Given the description of an element on the screen output the (x, y) to click on. 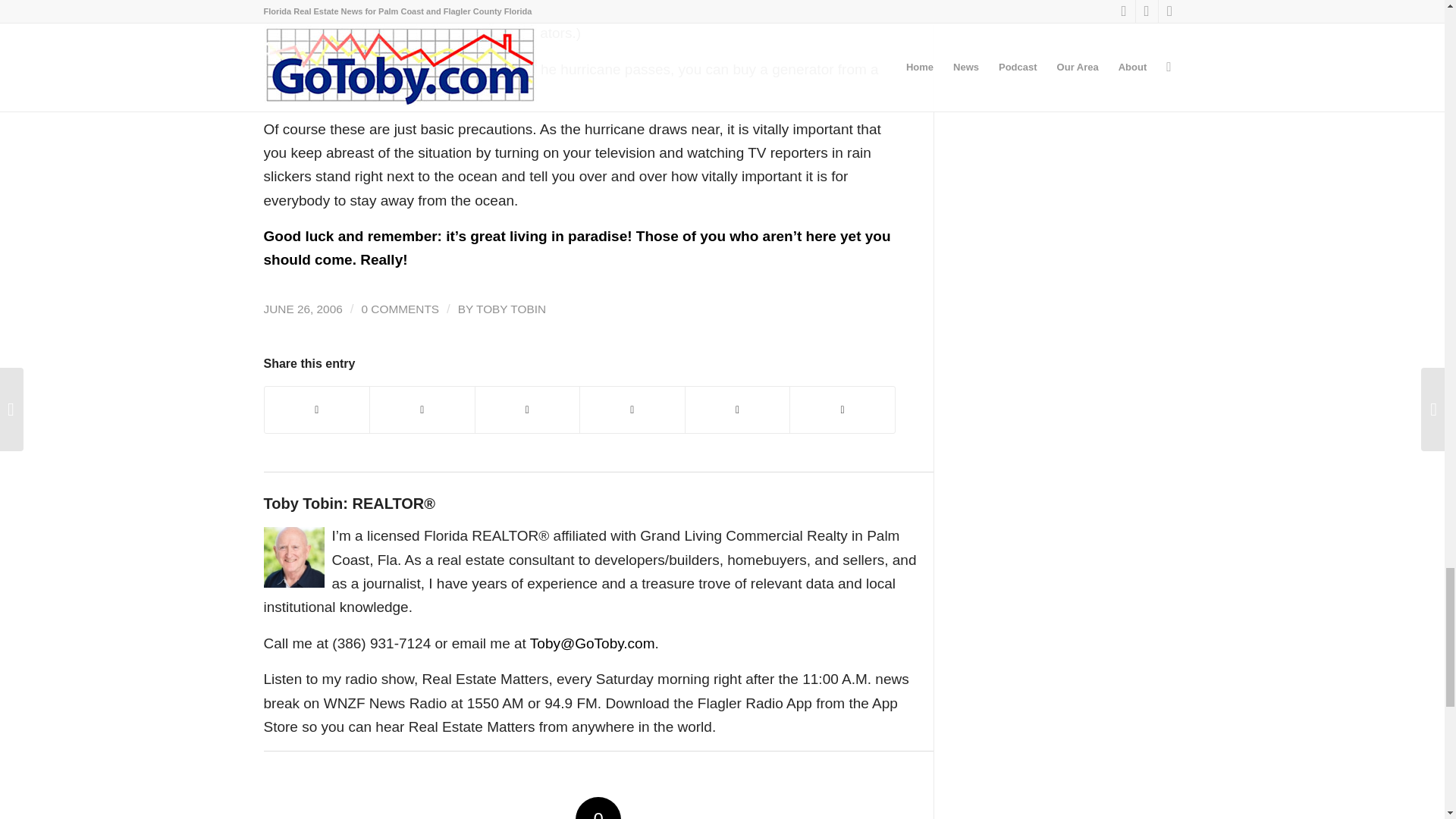
TOBY TOBIN (511, 308)
Posts by Toby Tobin (511, 308)
0 COMMENTS (400, 308)
